Given the description of an element on the screen output the (x, y) to click on. 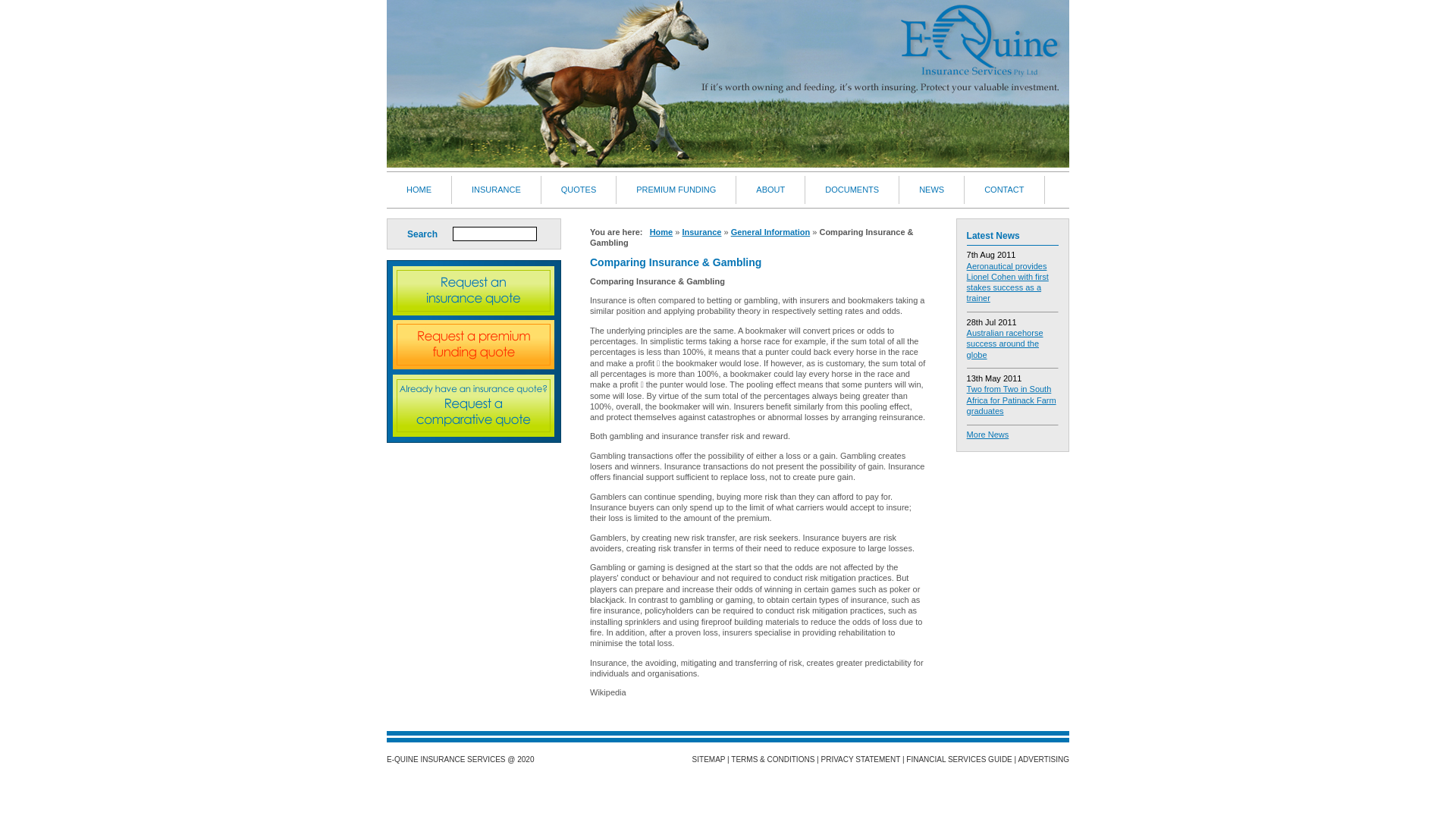
INSURANCE Element type: text (496, 189)
ABOUT Element type: text (770, 189)
Insurance Element type: text (701, 231)
Australian racehorse success around the globe Element type: text (1004, 343)
PRIVACY STATEMENT Element type: text (860, 759)
CONTACT Element type: text (1004, 189)
PREMIUM FUNDING Element type: text (676, 189)
ADVERTISING Element type: text (1043, 759)
NEWS Element type: text (931, 189)
General Information Element type: text (770, 231)
HOME Element type: text (418, 189)
Two from Two in South Africa for Patinack Farm graduates Element type: text (1011, 399)
TERMS & CONDITIONS Element type: text (772, 759)
SITEMAP Element type: text (708, 759)
More News Element type: text (987, 434)
DOCUMENTS Element type: text (852, 189)
FINANCIAL SERVICES GUIDE Element type: text (958, 759)
Home Element type: text (661, 231)
QUOTES Element type: text (578, 189)
